Given the description of an element on the screen output the (x, y) to click on. 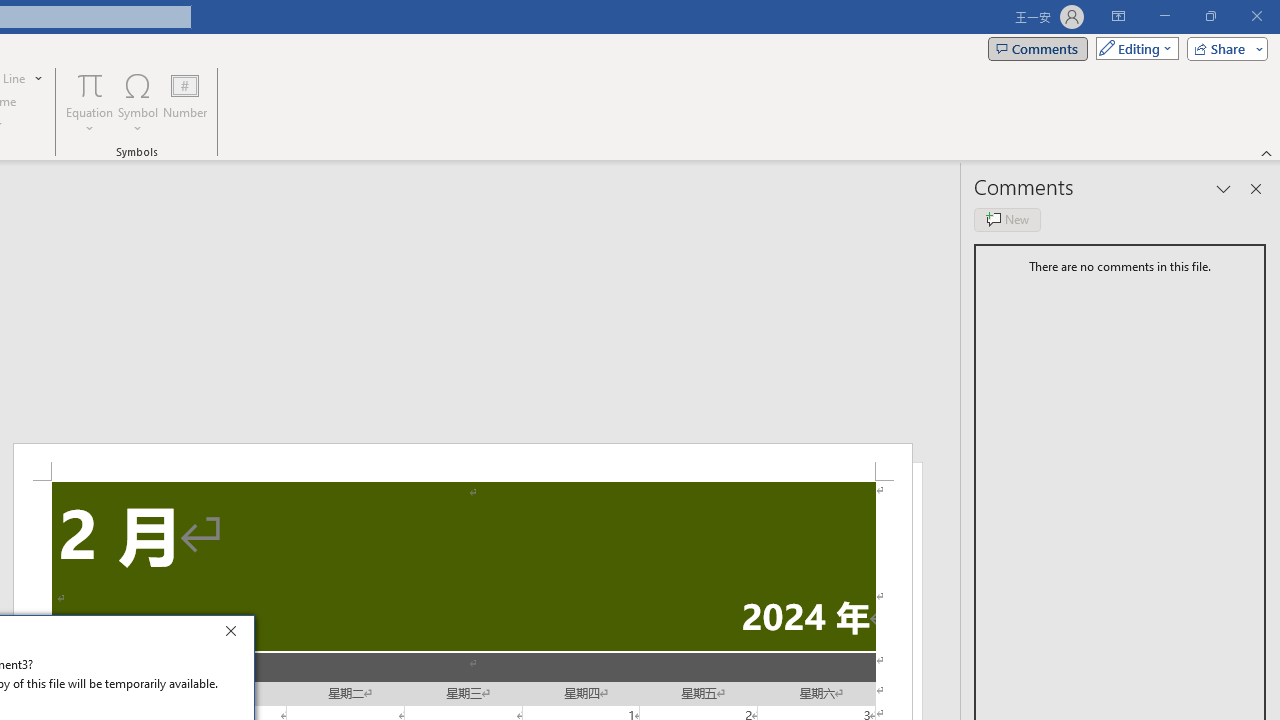
Close (236, 633)
New comment (1007, 219)
Ribbon Display Options (1118, 16)
Close pane (1256, 188)
Comments (1038, 48)
Header -Section 2- (462, 461)
Collapse the Ribbon (1267, 152)
Equation (90, 84)
Number... (185, 102)
Restore Down (1210, 16)
Task Pane Options (1224, 188)
Minimize (1164, 16)
Share (1223, 48)
